Given the description of an element on the screen output the (x, y) to click on. 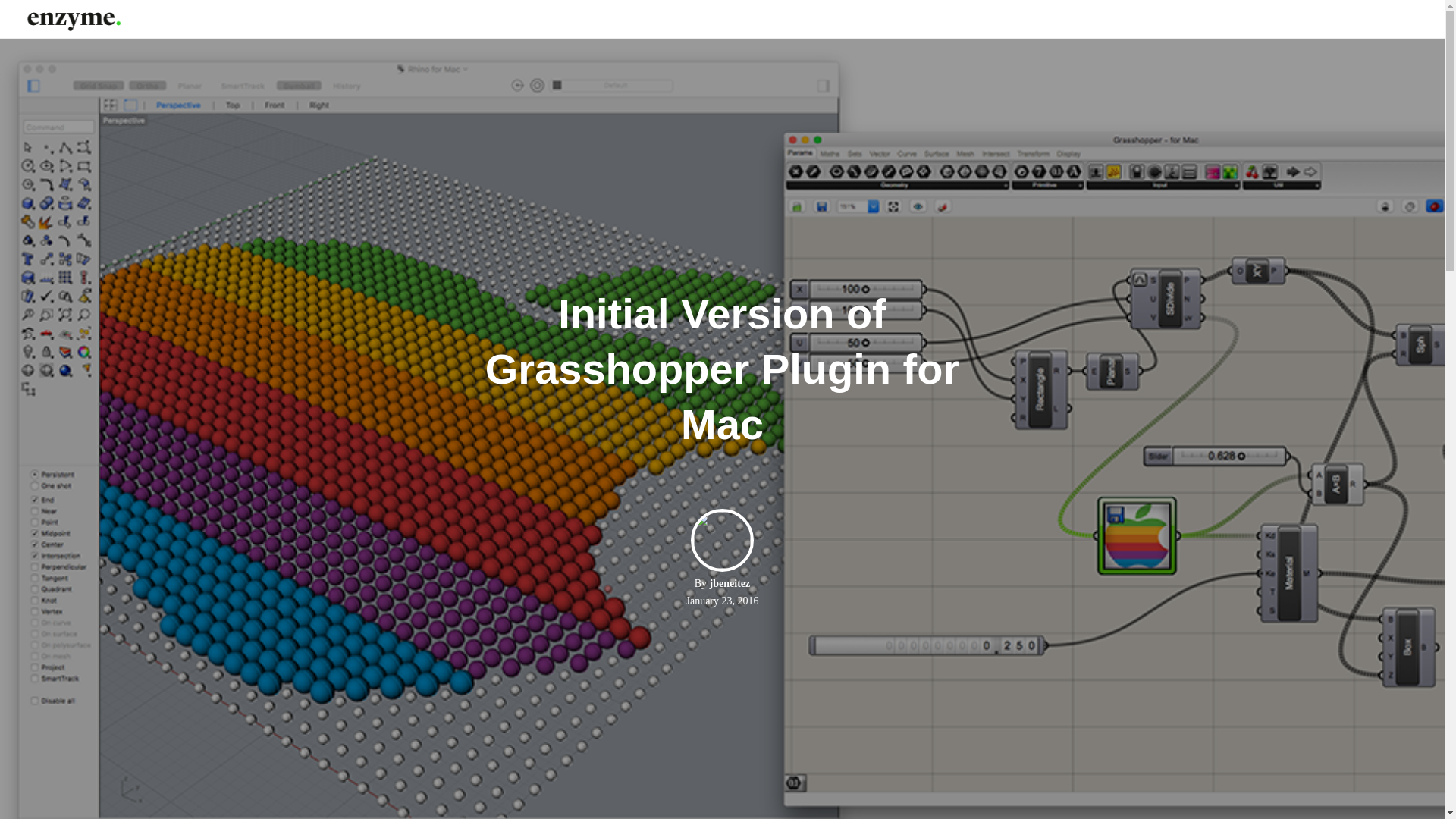
January 23, 2016 (721, 600)
jbeneitez (730, 583)
Enzyme APD Blog (73, 18)
